Given the description of an element on the screen output the (x, y) to click on. 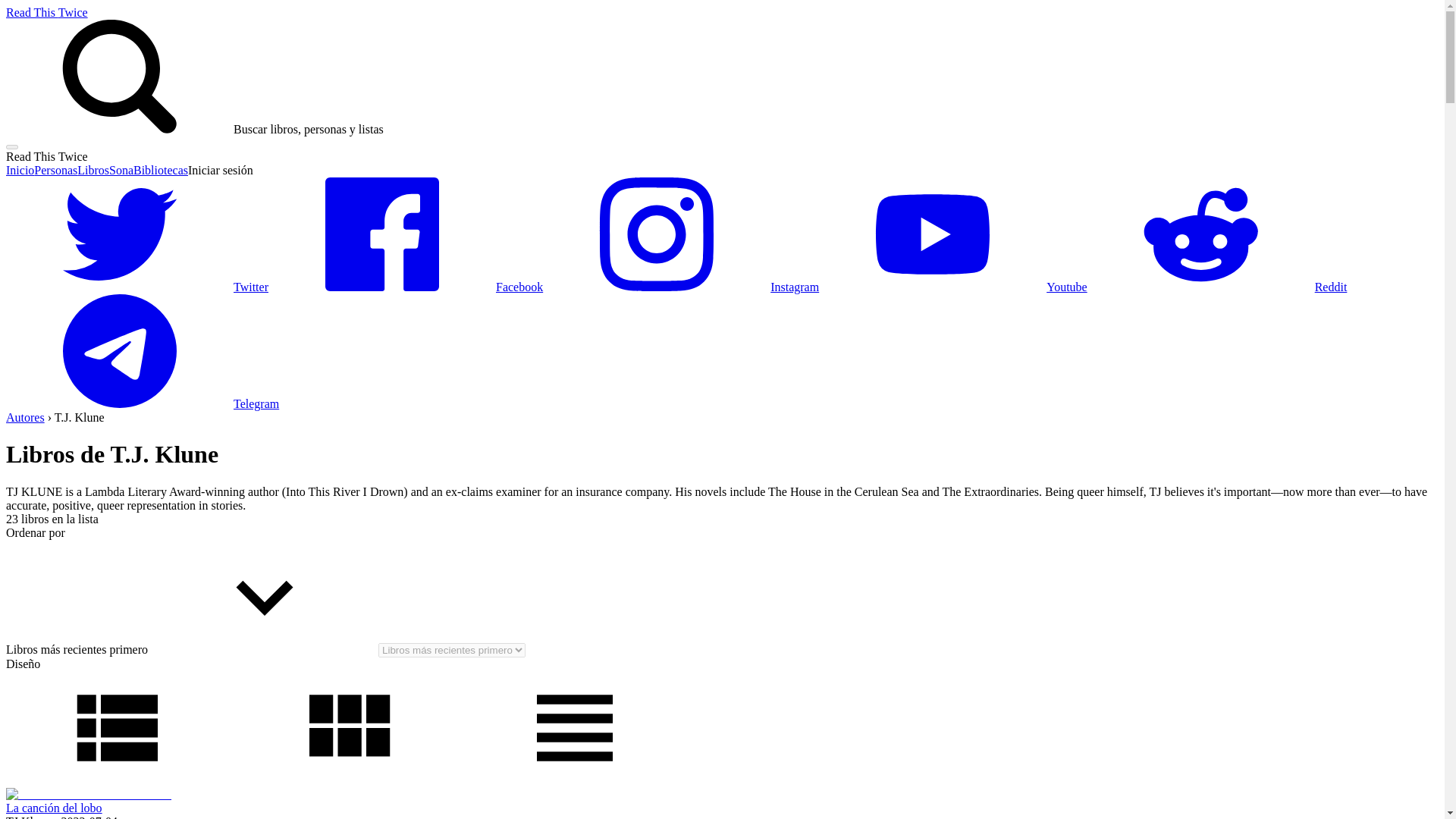
Reddit (1217, 286)
Autores (25, 417)
Inicio (19, 169)
Sona (121, 169)
Facebook (405, 286)
Youtube (952, 286)
Libros (93, 169)
Telegram (142, 403)
Read This Twice (46, 11)
Read This Twice on Twitter (136, 286)
Bibliotecas (160, 169)
Read This Twice on Facebook (405, 286)
Read This Twice on Youtube (952, 286)
Read This Twice on Reddit (1217, 286)
Personas (55, 169)
